Given the description of an element on the screen output the (x, y) to click on. 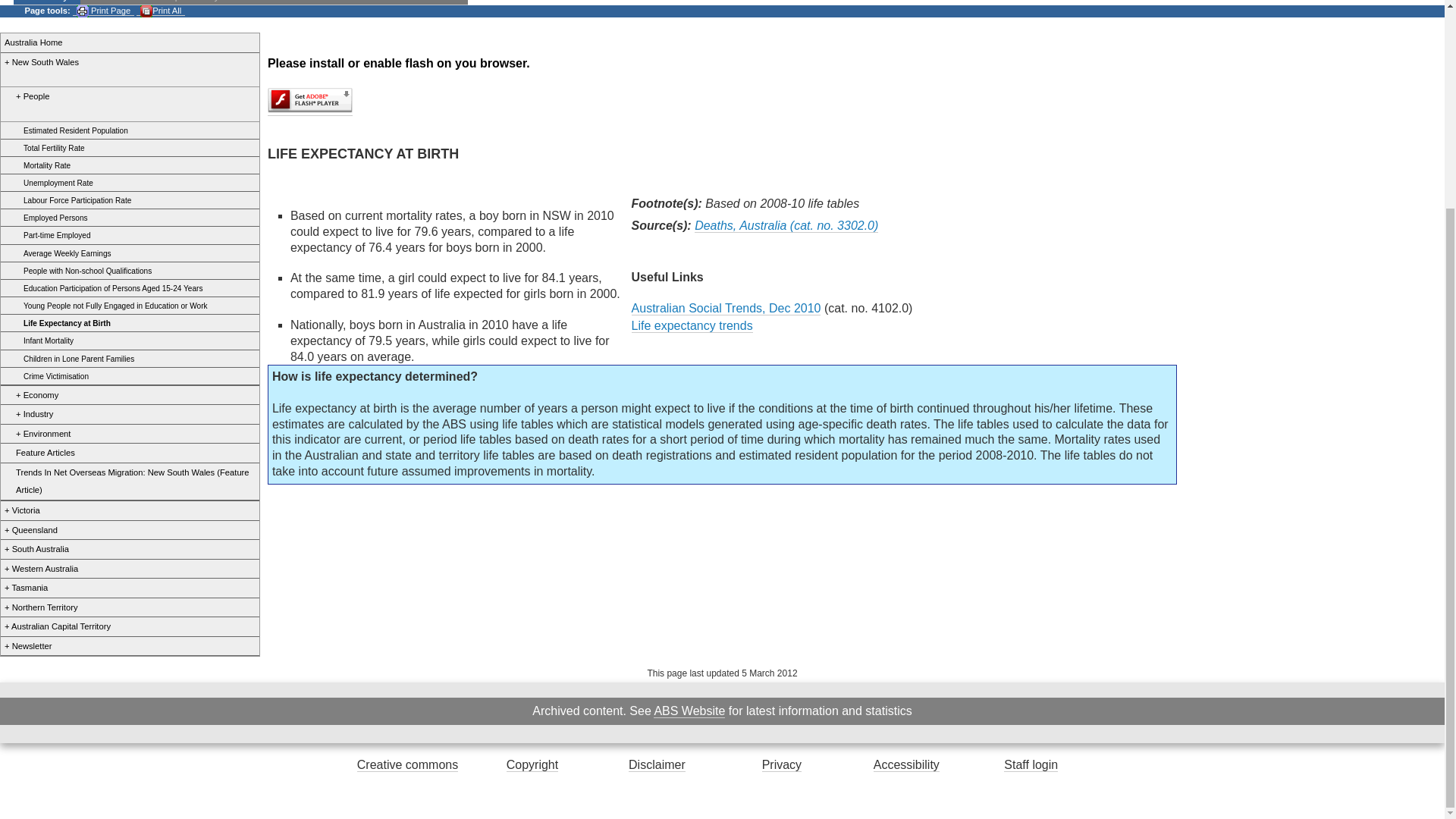
Estimated Resident Population (66, 130)
Life Expectancy at Birth (58, 323)
Past Releases (422, 2)
Print All (160, 10)
Total Fertility Rate (44, 148)
Feature Articles (39, 453)
Average Weekly Earnings (58, 253)
Crime Victimisation (47, 376)
ABS Website (689, 711)
Related Information (319, 2)
